Given the description of an element on the screen output the (x, y) to click on. 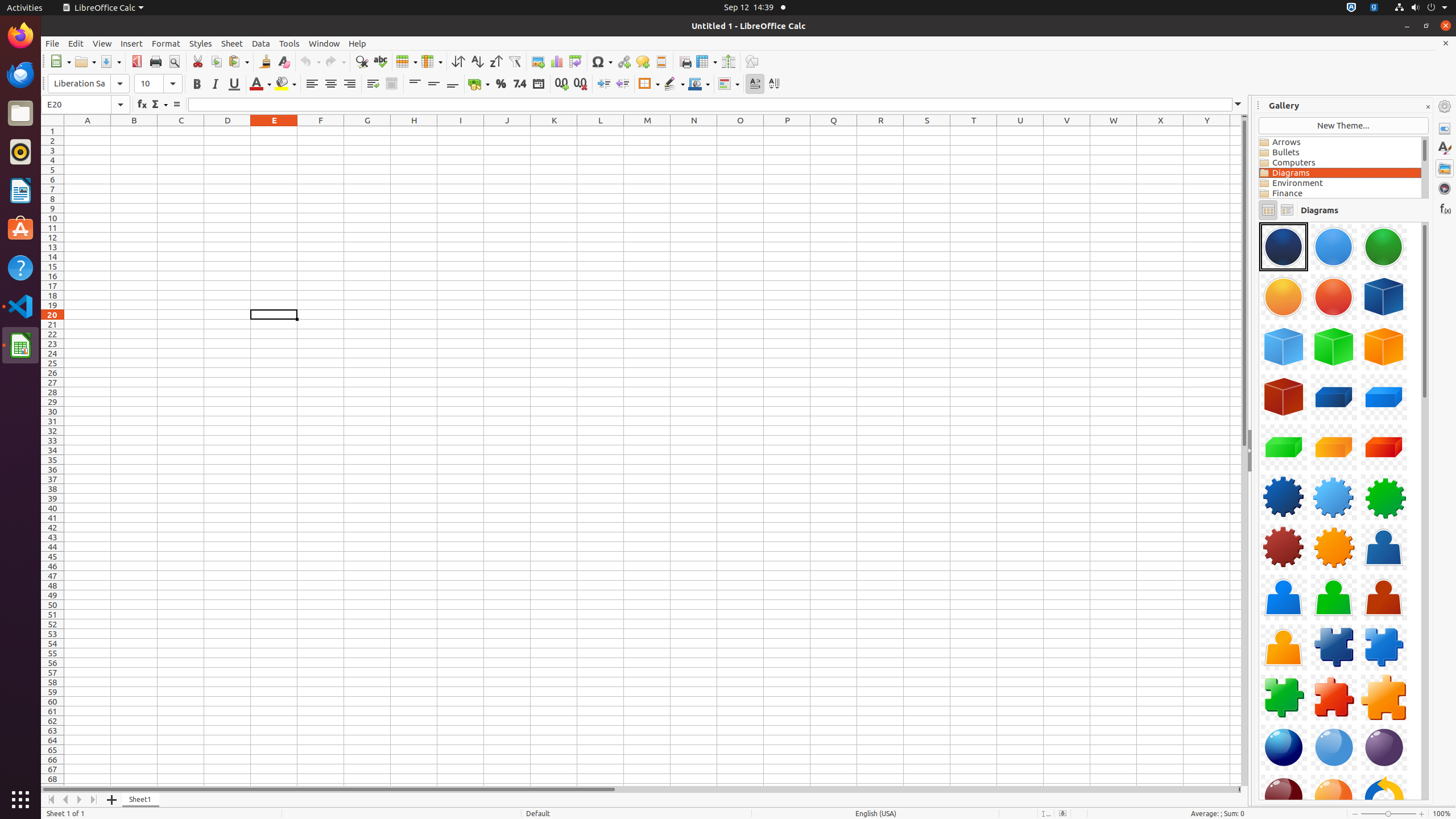
Wrap Text Element type: push-button (372, 83)
G1 Element type: table-cell (367, 130)
Bullets Element type: list-item (1340, 152)
R1 Element type: table-cell (880, 130)
